Given the description of an element on the screen output the (x, y) to click on. 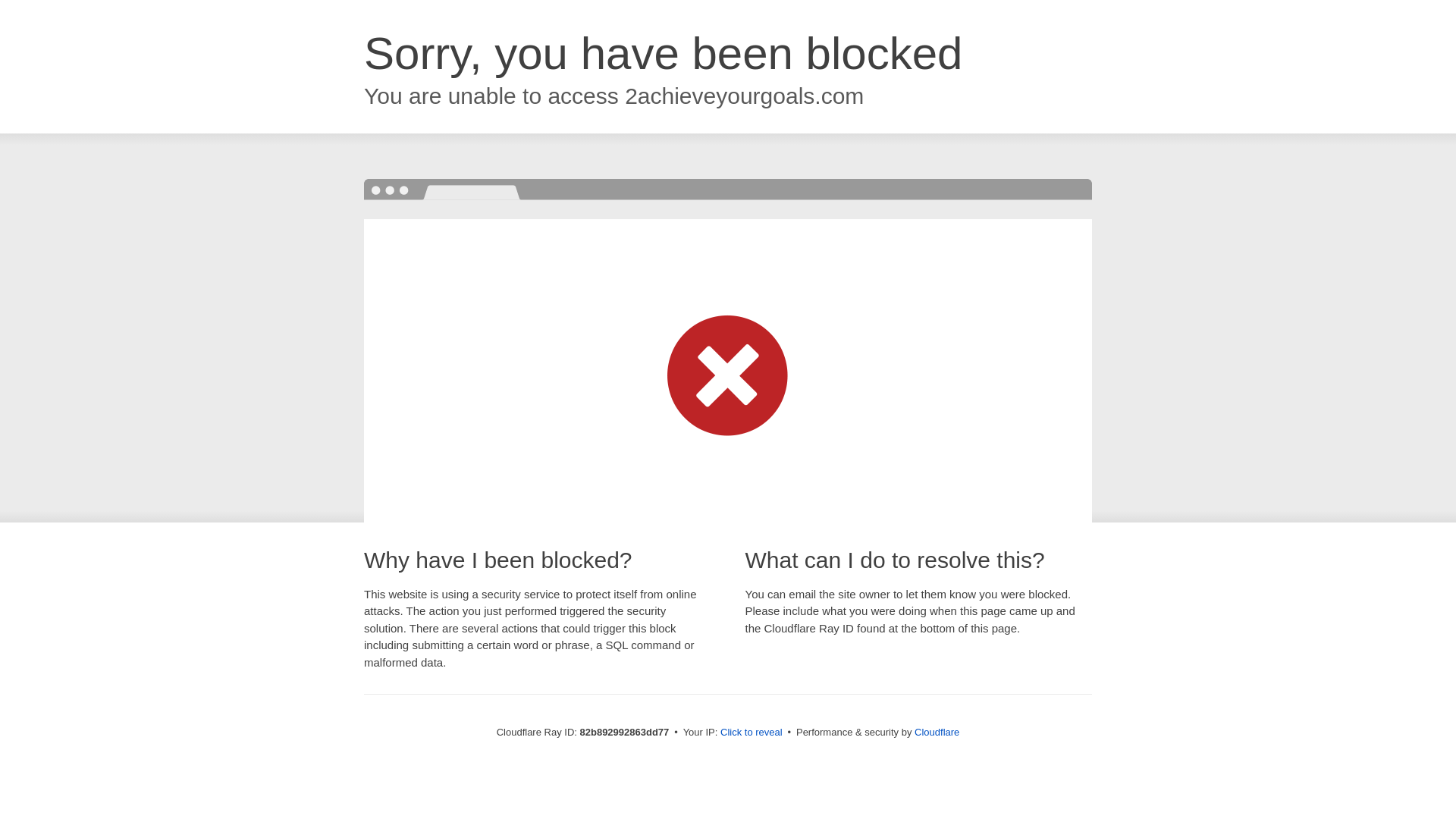
Cloudflare Element type: text (936, 731)
Click to reveal Element type: text (751, 732)
